Given the description of an element on the screen output the (x, y) to click on. 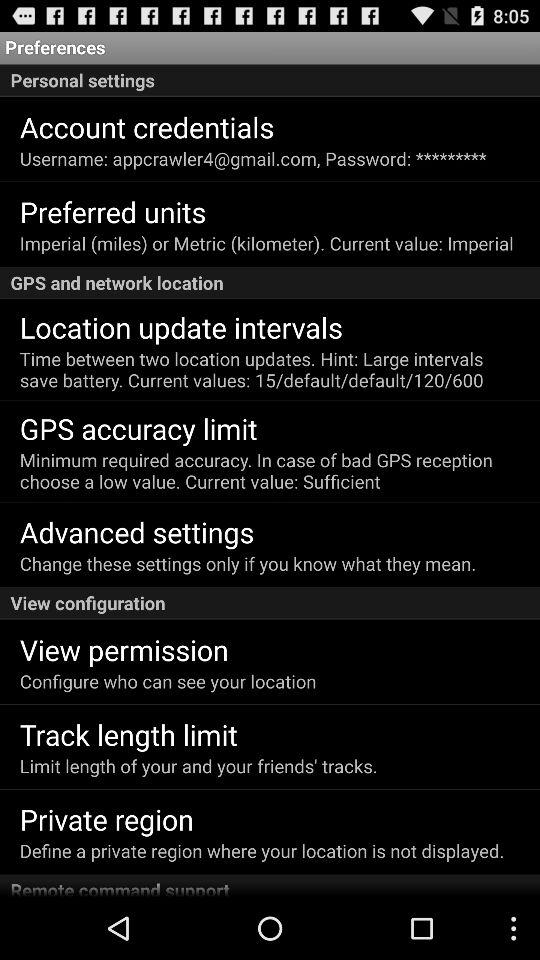
choose item above the change these settings icon (136, 531)
